Given the description of an element on the screen output the (x, y) to click on. 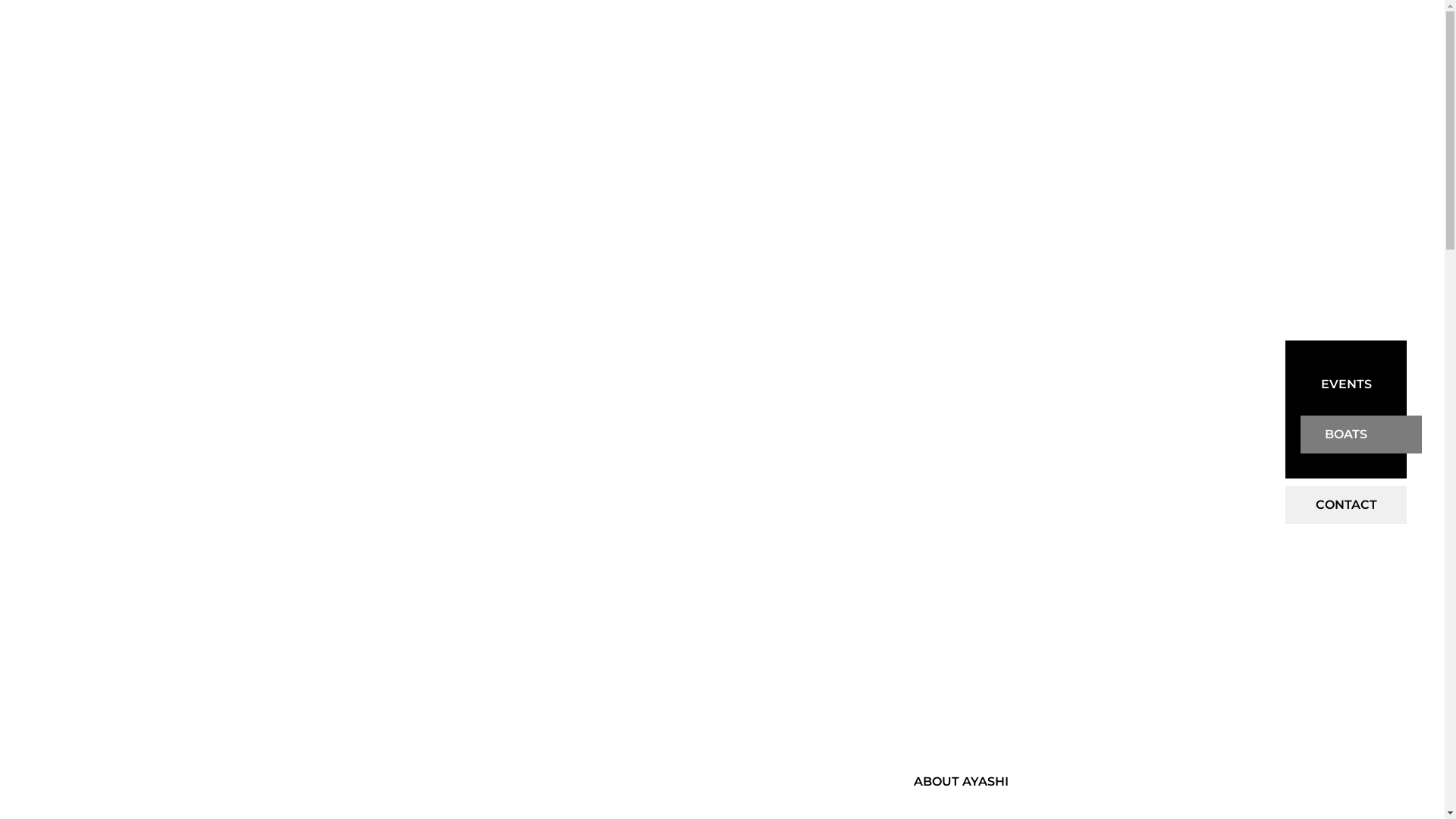
EVENTS Element type: text (1345, 384)
Go to the frontpage Element type: hover (432, 450)
BOATS Element type: text (1345, 434)
Skip to main content Element type: text (721, 0)
CONTACT Element type: text (1345, 505)
